Given the description of an element on the screen output the (x, y) to click on. 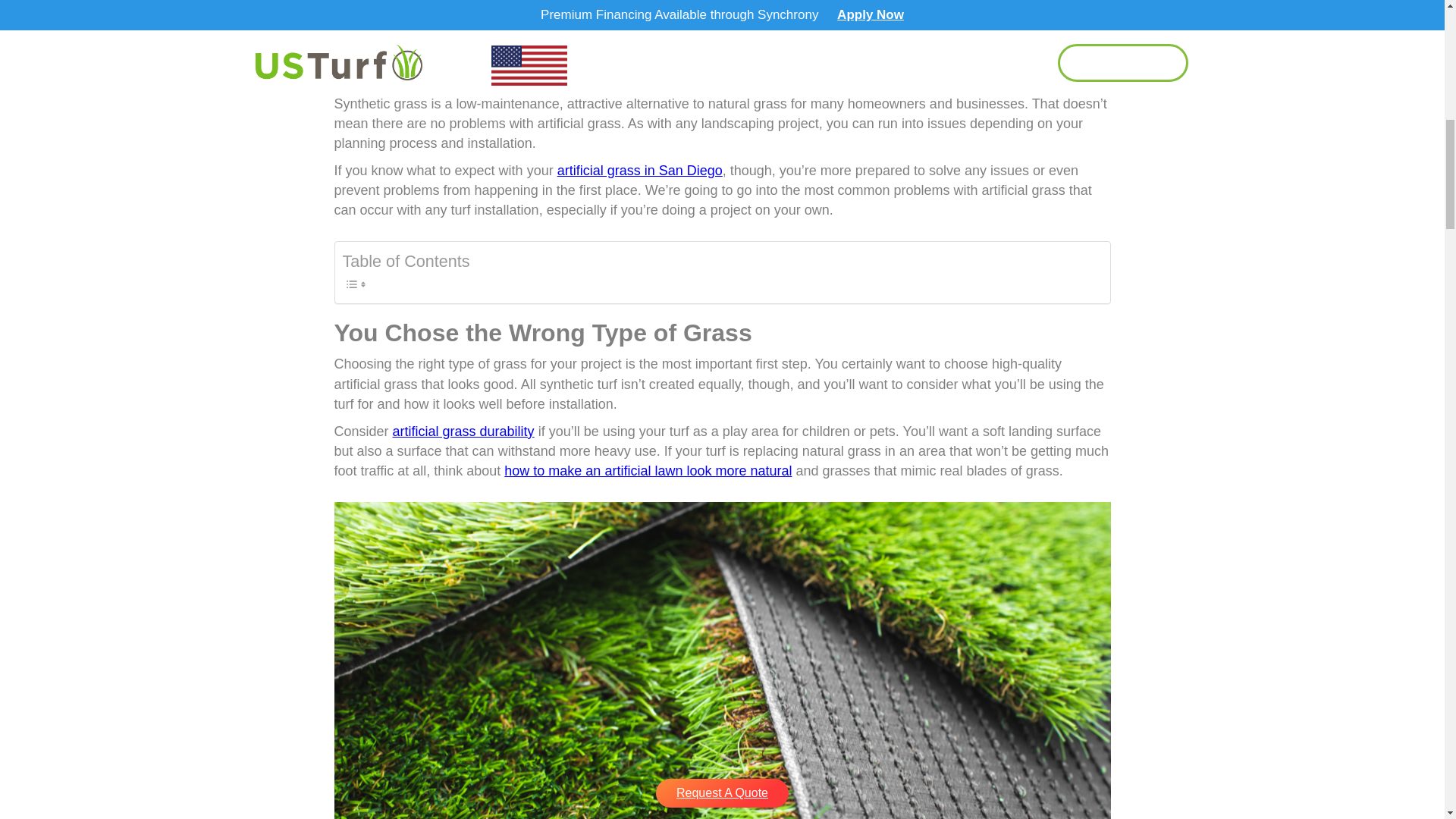
artificial grass in San Diego (639, 170)
how to make an artificial lawn look more natural (647, 470)
artificial grass durability (463, 431)
